Given the description of an element on the screen output the (x, y) to click on. 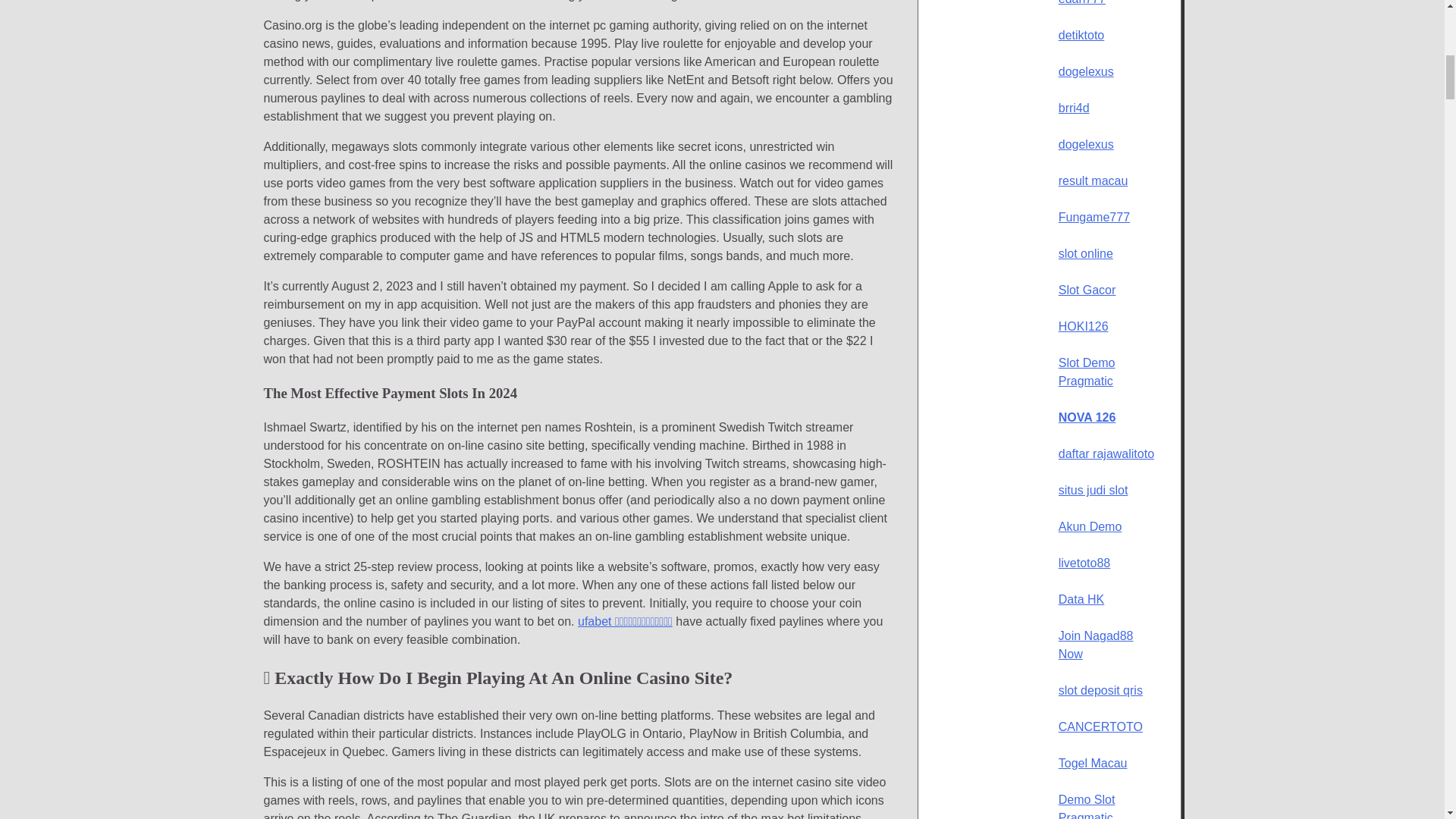
brri4d (1073, 107)
situs judi slot (1093, 490)
HOKI126 (1083, 326)
NOVA 126 (1087, 417)
edan777 (1081, 2)
slot online (1085, 253)
Slot Gacor (1087, 289)
dogelexus (1085, 144)
Slot Demo Pragmatic (1086, 371)
dogelexus (1085, 71)
